Given the description of an element on the screen output the (x, y) to click on. 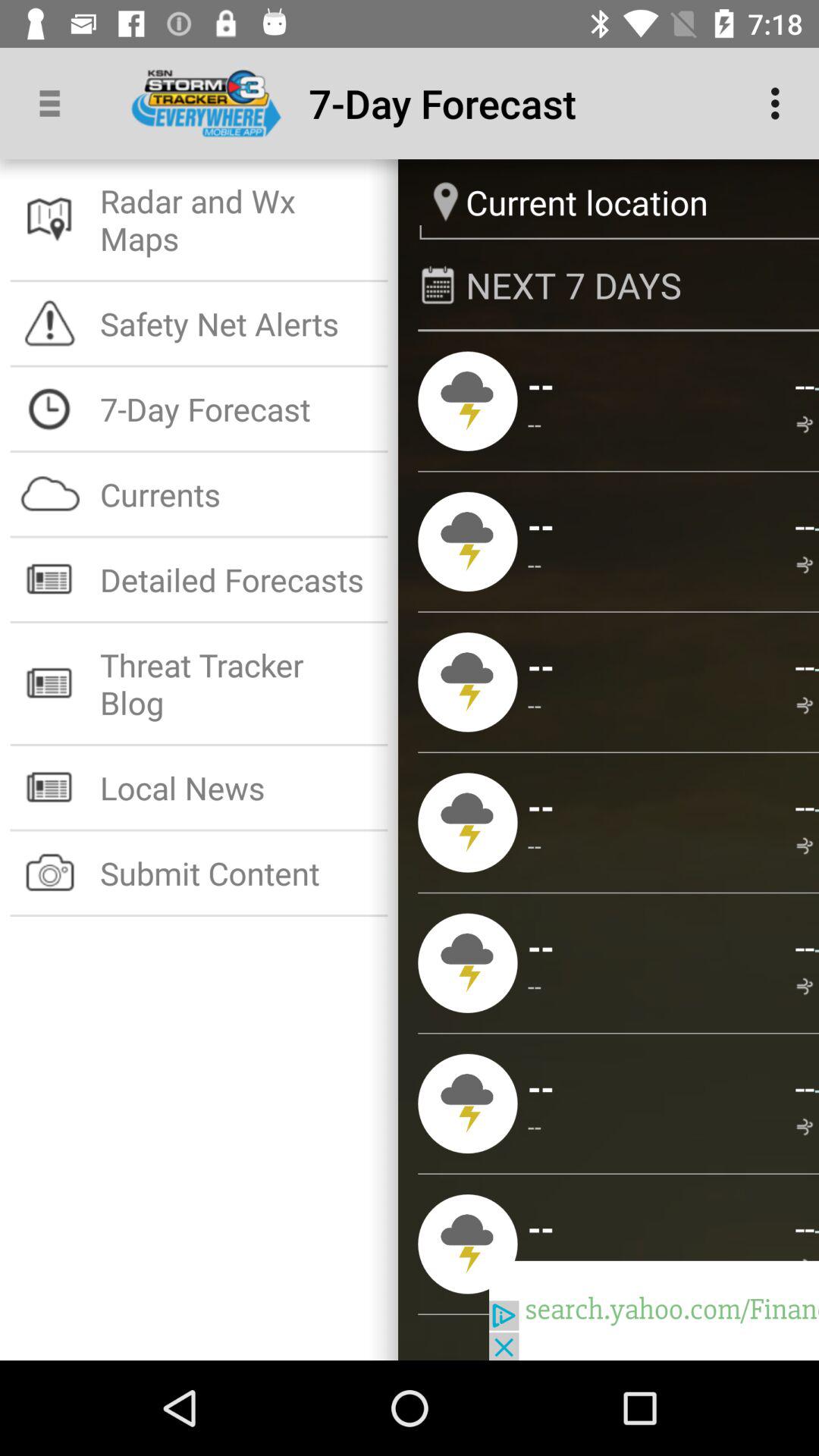
click the app to the left of the -- (534, 845)
